Given the description of an element on the screen output the (x, y) to click on. 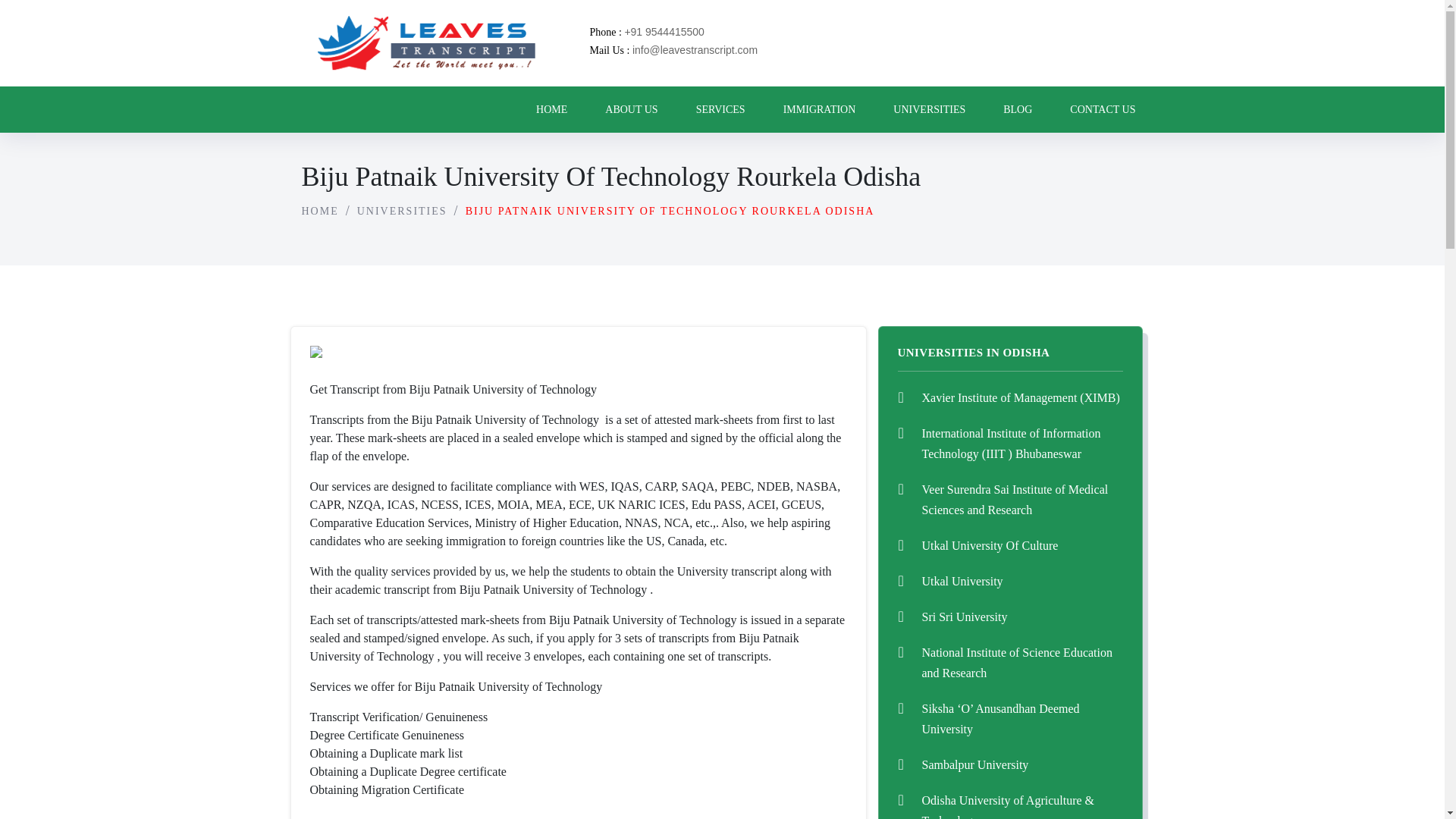
Sri Sri University (964, 616)
Utkal University Of Culture (989, 545)
UNIVERSITIES (401, 211)
HOME (320, 211)
IMMIGRATION (819, 109)
Utkal University (962, 581)
SERVICES (720, 109)
CONTACT US (1102, 109)
National Institute of Science Education and Research (1016, 662)
Veer Surendra Sai Institute of Medical Sciences and Research (1014, 499)
